Given the description of an element on the screen output the (x, y) to click on. 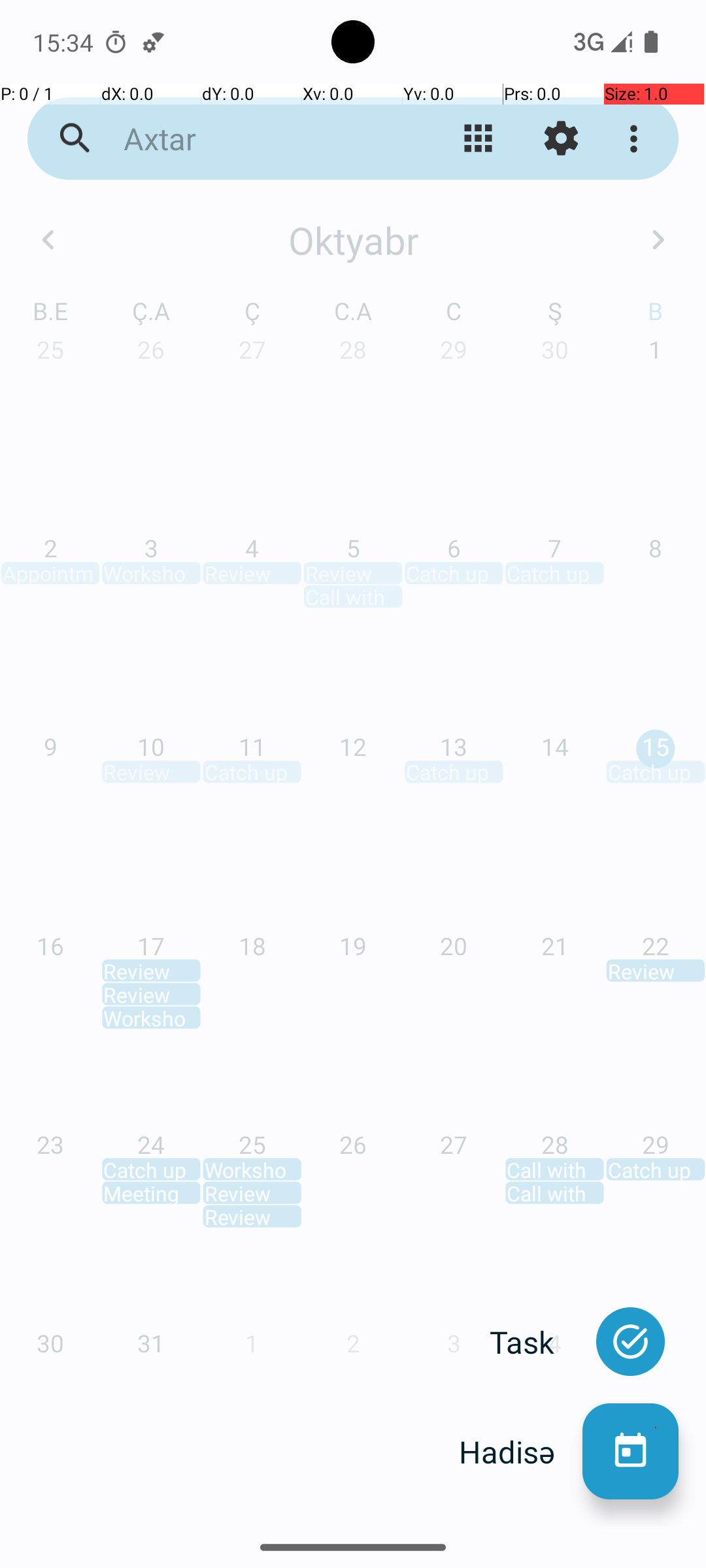
Axtar Element type: android.widget.EditText (252, 138)
Görünüşü dəyiş Element type: android.widget.Button (477, 138)
Parametrlər Element type: android.widget.Button (560, 138)
Digər seçimlər Element type: android.widget.ImageView (636, 138)
Hadisə Element type: android.widget.TextView (520, 1451)
Yeni Hadisə Element type: android.widget.ImageButton (630, 1451)
Oktyabr Element type: android.widget.TextView (352, 239)
